Given the description of an element on the screen output the (x, y) to click on. 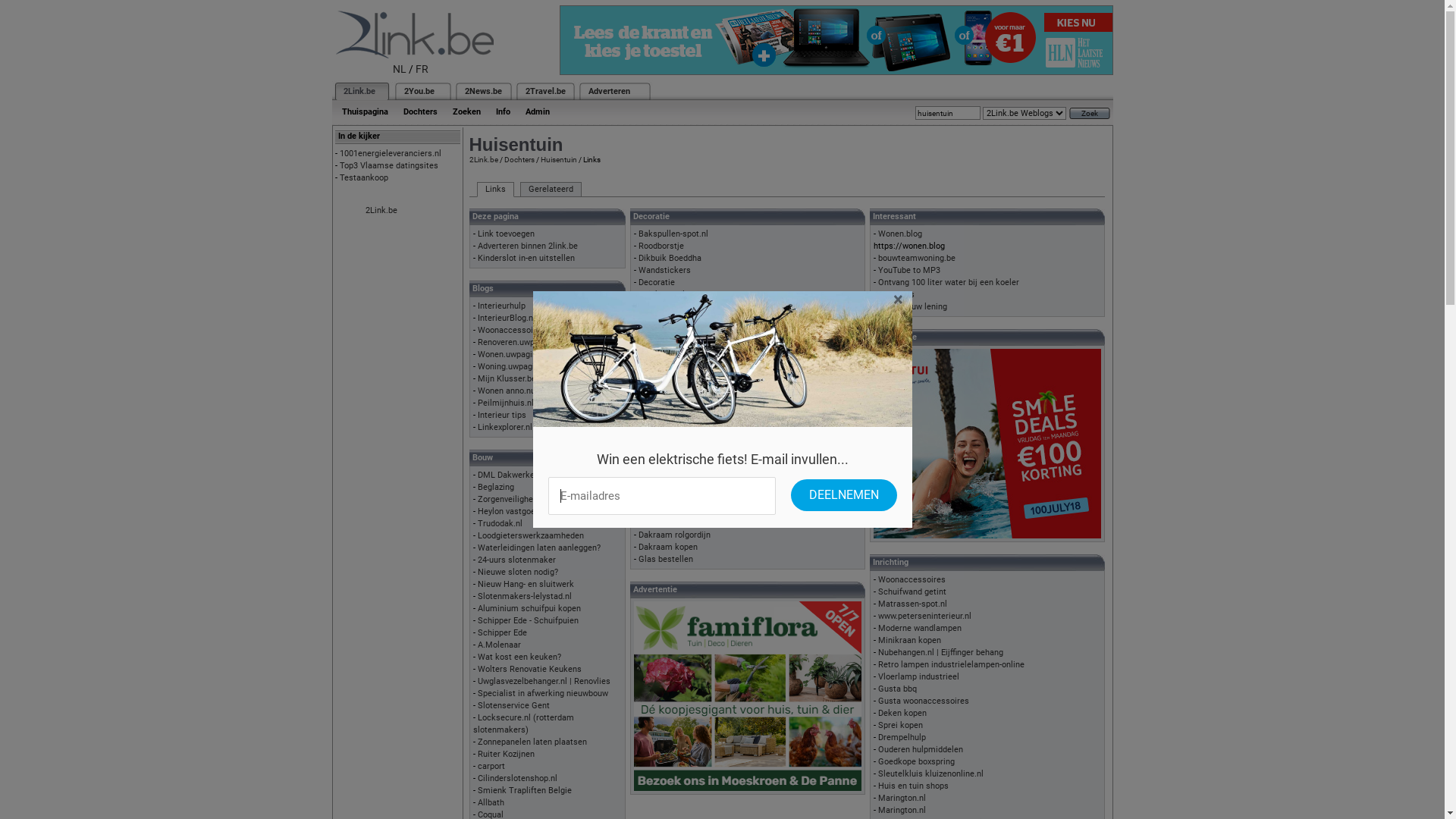
Interieurhulp Element type: text (501, 305)
Zoeken Element type: text (465, 111)
YouTube to MP3 Element type: text (909, 270)
Glas bestellen Element type: text (665, 559)
Retro lampen industrielelampen-online Element type: text (951, 664)
Marington.nl Element type: text (901, 798)
Hypotheek company Element type: text (676, 402)
Bekijk nu verzilverd wonen Element type: text (687, 366)
Schuifwand getint Element type: text (912, 591)
Testaankoop Element type: text (363, 177)
DML Dakwerken Element type: text (508, 475)
Unieke schilderijen Element type: text (674, 294)
Ontvang 100 liter water bij een koeler Element type: text (948, 282)
Link toevoegen Element type: text (505, 233)
Wonen.blog Element type: text (900, 233)
Isolatie-bedrijf.be Element type: text (671, 450)
Schipper Ede Element type: text (502, 632)
Drempelhulp Element type: text (901, 737)
Wonen anno.nu Element type: text (506, 390)
Dakraam kopen Element type: text (667, 547)
Huis en tuin shops Element type: text (913, 785)
Ouderen hulpmiddelen Element type: text (920, 749)
Woonaccessoires Element type: text (911, 579)
Adverteren Element type: text (609, 91)
Admin Element type: text (536, 111)
Wonen.uwpagina.nl Element type: text (513, 354)
Dakraam rolgordijn Element type: text (674, 534)
Cilinderslotenshop.nl Element type: text (517, 778)
WT Isolatie Element type: text (659, 475)
2Link.be Element type: text (482, 159)
Minikraan kopen Element type: text (909, 640)
Loodgieterswerkzaamheden Element type: text (530, 535)
Schipper Ede - Schuifpuien Element type: text (527, 620)
Bereken uw lening Element type: text (912, 306)
Vloerlamp industrieel Element type: text (918, 676)
Zorgenveiligheidsshop.nl Element type: text (524, 499)
2Link.be Element type: text (358, 91)
Info Element type: text (502, 111)
Hypotheek testen Element type: text (671, 390)
Renoveren.uwpagina.nl Element type: text (520, 342)
FR Element type: text (421, 68)
Foto's Element type: text (649, 306)
2Travel.be Element type: text (544, 91)
Bakspullen-spot.nl Element type: text (673, 233)
bouwteamwoning.be Element type: text (916, 258)
Ruiter Kozijnen Element type: text (505, 754)
Woonaccessoires.com Element type: text (520, 330)
Matrassen-spot.nl Element type: text (912, 603)
Nieuwe sloten nodig? Element type: text (517, 572)
Peilmijnhuis.nl Element type: text (505, 402)
Marington.nl Element type: text (901, 810)
Wat kost een keuken? Element type: text (519, 657)
24-uurs slotenmaker Element type: text (516, 559)
Heylon vastgoed Element type: text (508, 511)
carport Element type: text (491, 766)
Decoratie Element type: text (656, 282)
Waterleidingen laten aanleggen? Element type: text (538, 547)
Allbath Element type: text (490, 802)
Brandverzekering-simulatie Element type: text (689, 354)
www.peterseninterieur.nl Element type: text (924, 616)
Sleutelkluis kluizenonline.nl Element type: text (930, 773)
Nubehangen.nl | Eijffinger behang Element type: text (940, 652)
Dikbuik Boeddha Element type: text (669, 258)
Nieuw Hang- en sluitwerk Element type: text (525, 584)
Dochters Element type: text (420, 111)
Uwglasvezelbehanger.nl | Renovlies Element type: text (543, 681)
NL Element type: text (399, 68)
Specialist in afwerking nieuwbouw Element type: text (542, 693)
Adverteren binnen 2link.be Element type: text (527, 246)
Wolters Renovatie Keukens Element type: text (529, 669)
Top3 Vlaamse datingsites Element type: text (388, 165)
Zonnepanelen laten plaatsen Element type: text (531, 741)
MIR Bvba Zonwering Element type: text (676, 522)
Mijn Klusser.be Element type: text (506, 378)
Locksecure.nl (rotterdam slotenmakers) Element type: text (523, 723)
Woning.uwpagina.nl Element type: text (514, 366)
Smienk Trapliften Belgie Element type: text (524, 790)
Bouwgids Element type: text (896, 294)
Kinderslot in-en uitstellen Element type: text (525, 258)
Gerelateerd Element type: text (550, 189)
Gusta bbq Element type: text (897, 688)
InterieurBlog.nl Element type: text (506, 318)
Goedkope boxspring Element type: text (916, 761)
Moderne wandlampen Element type: text (919, 628)
Aluminium schuifpui kopen Element type: text (528, 608)
Slotenmakers-lelystad.nl Element type: text (524, 596)
Sprei kopen Element type: text (900, 725)
Zoek Element type: text (1089, 113)
Linkexplorer.nl Element type: text (504, 427)
Isocarm Isolatie Element type: text (668, 462)
Interieur tips Element type: text (501, 415)
Thuispagina Element type: text (364, 111)
A.Molenaar Element type: text (498, 644)
Gusta woonaccessoires Element type: text (923, 701)
Trudodak.nl Element type: text (499, 523)
Dochters Element type: text (518, 159)
2You.be Element type: text (418, 91)
1001energieleveranciers.nl Element type: text (390, 153)
Wandstickers Element type: text (664, 270)
Beglazing Element type: text (495, 487)
Slotenservice Gent Element type: text (513, 705)
Roodborstje Element type: text (661, 246)
Afab Element type: text (646, 378)
Deken kopen Element type: text (902, 713)
Huisentuin Element type: text (557, 159)
2Link.be Element type: text (381, 210)
2News.be Element type: text (482, 91)
Links Element type: text (494, 189)
